Given the description of an element on the screen output the (x, y) to click on. 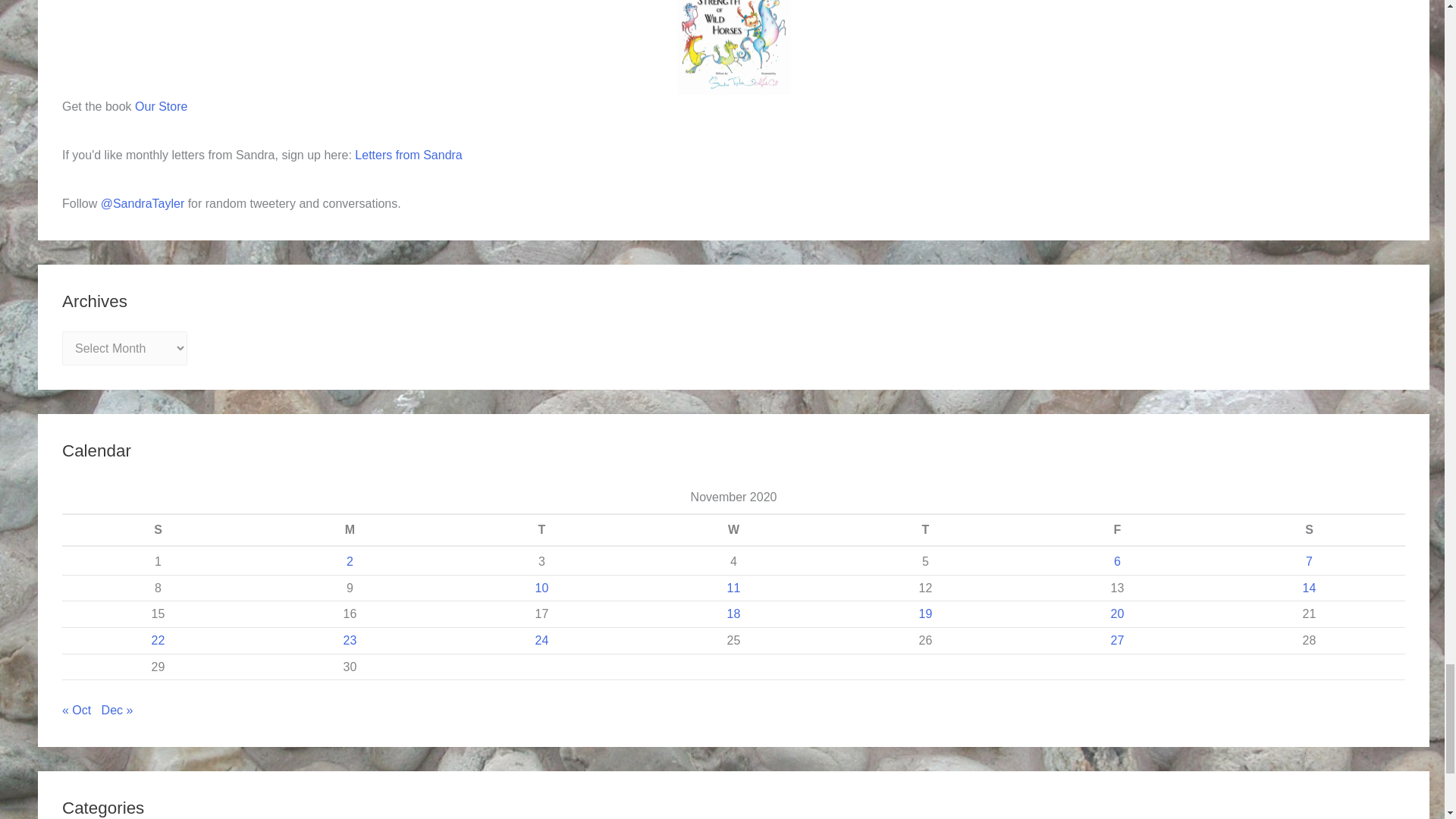
Tuesday (541, 530)
Monday (349, 530)
10 (541, 587)
23 (349, 640)
19 (925, 613)
Friday (1117, 530)
20 (1117, 613)
Thursday (925, 530)
22 (158, 640)
27 (1117, 640)
18 (733, 613)
Front Cover web (733, 47)
Our Store (161, 106)
Wednesday (733, 530)
11 (733, 587)
